Given the description of an element on the screen output the (x, y) to click on. 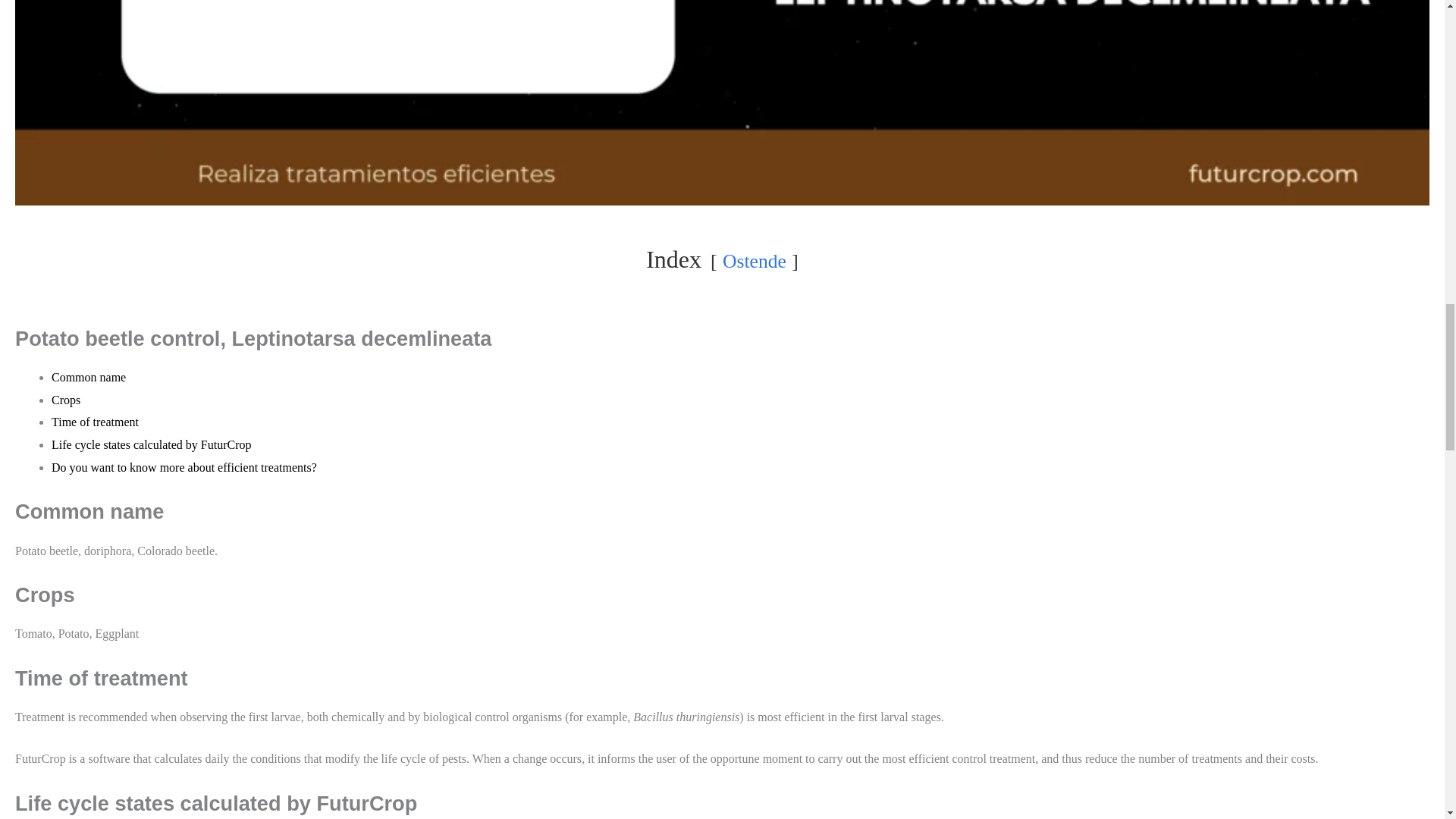
Do you want to know more about efficient treatments? (183, 467)
Life cycle states calculated by FuturCrop (150, 444)
Crops (65, 399)
Common name (87, 377)
Ostende (754, 260)
Time of treatment (94, 421)
